Given the description of an element on the screen output the (x, y) to click on. 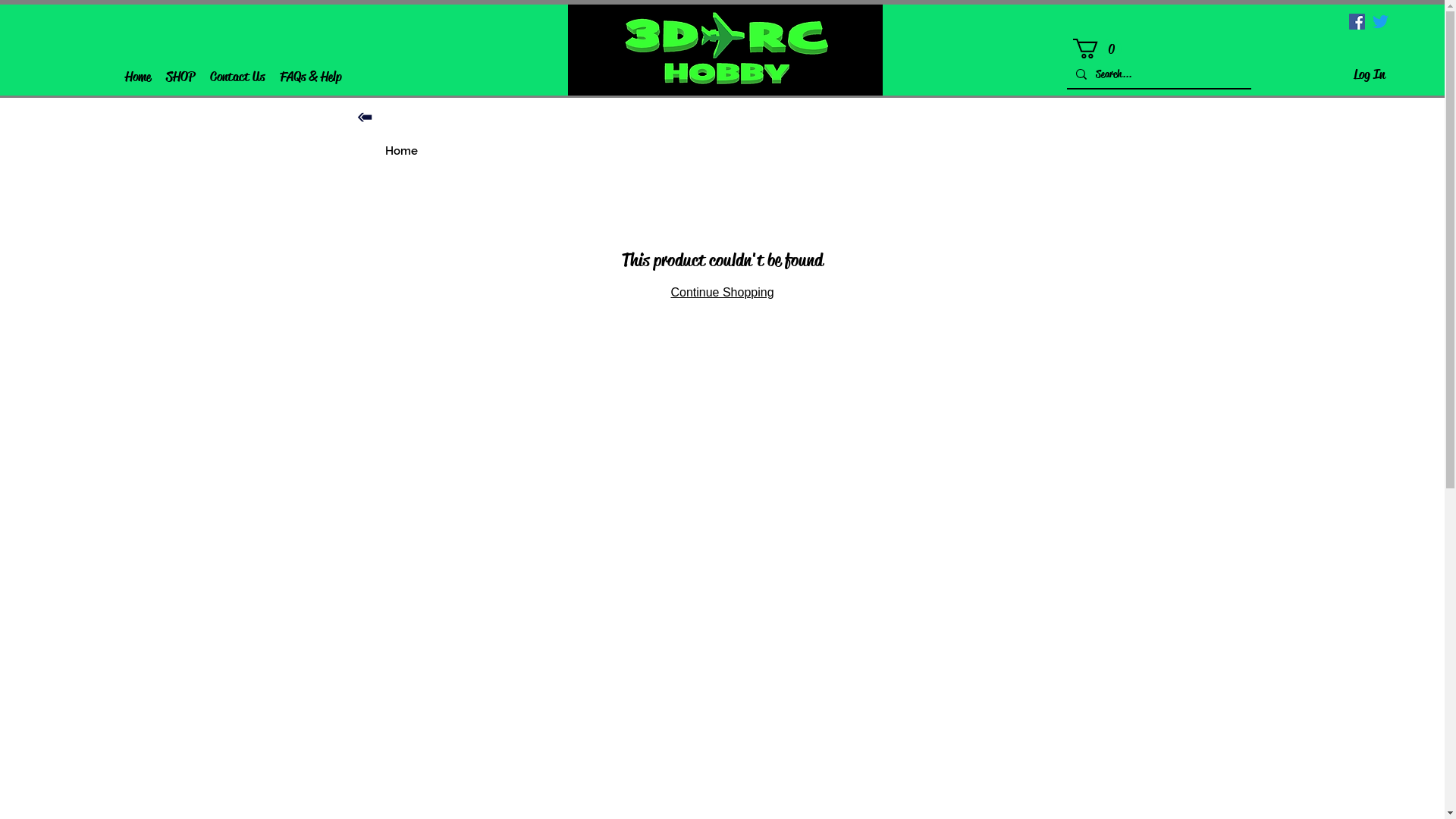
Log In Element type: text (1369, 74)
0 Element type: text (1097, 48)
Continue Shopping Element type: text (721, 291)
Home Element type: text (401, 150)
Contact Us Element type: text (237, 76)
FAQs & Help Element type: text (310, 76)
Home Element type: text (137, 76)
SHOP Element type: text (180, 76)
